Given the description of an element on the screen output the (x, y) to click on. 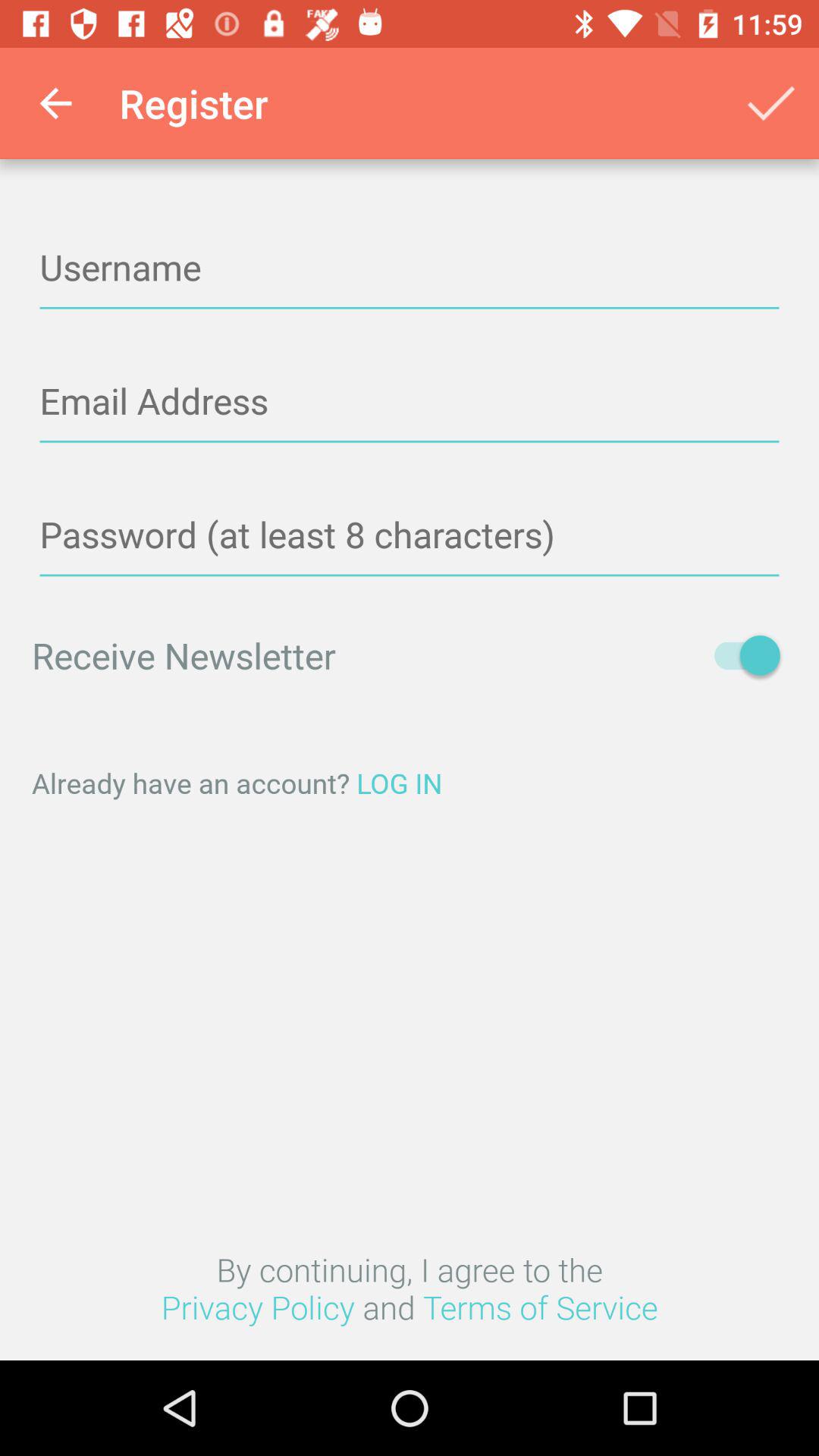
select icon above the by continuing i (409, 782)
